Given the description of an element on the screen output the (x, y) to click on. 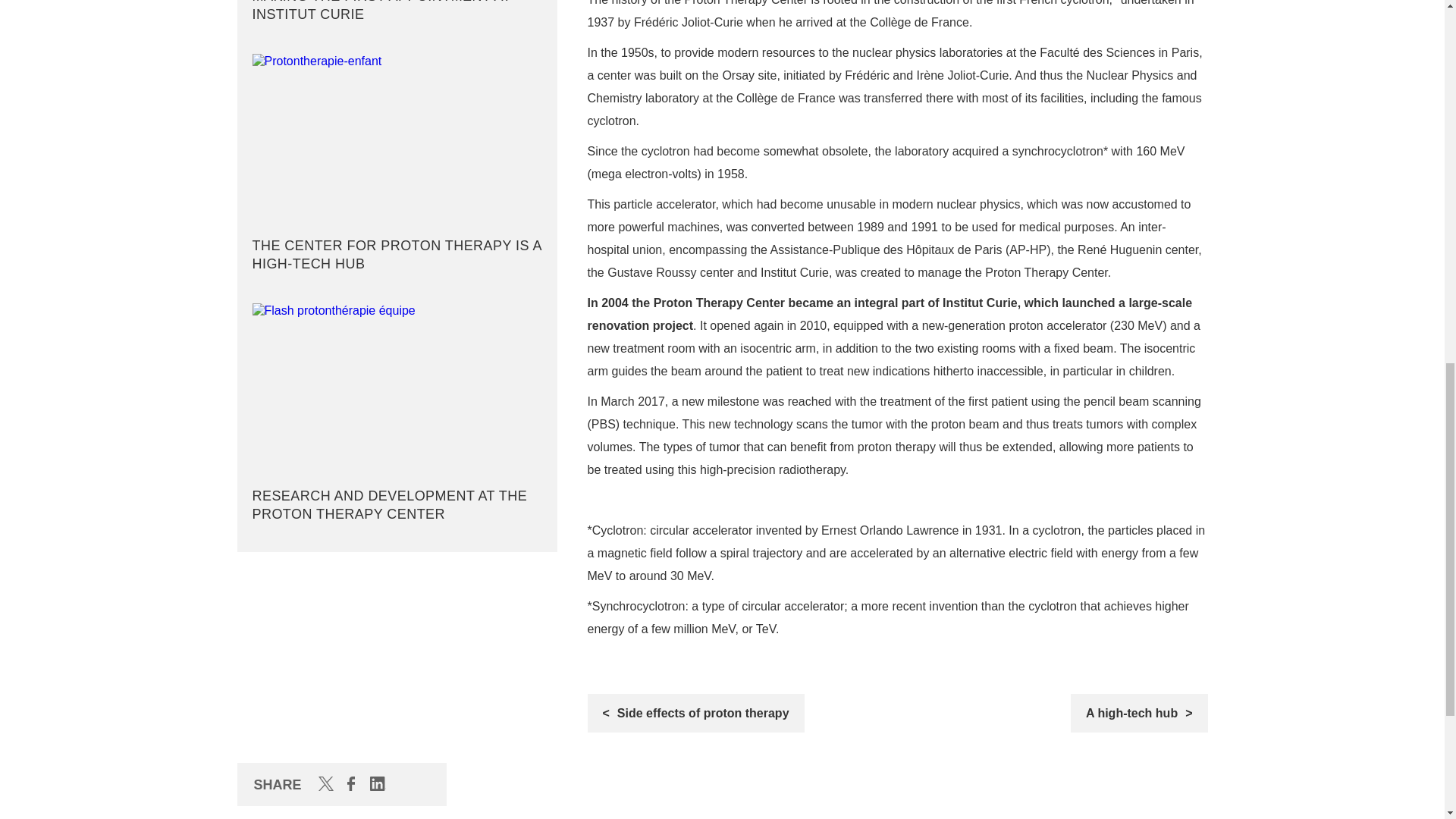
Research and development at the Proton Therapy Center (396, 416)
Making the first appointment at Institut Curie (396, 15)
The Center for Proton Therapy is a high-tech hub (396, 166)
